Given the description of an element on the screen output the (x, y) to click on. 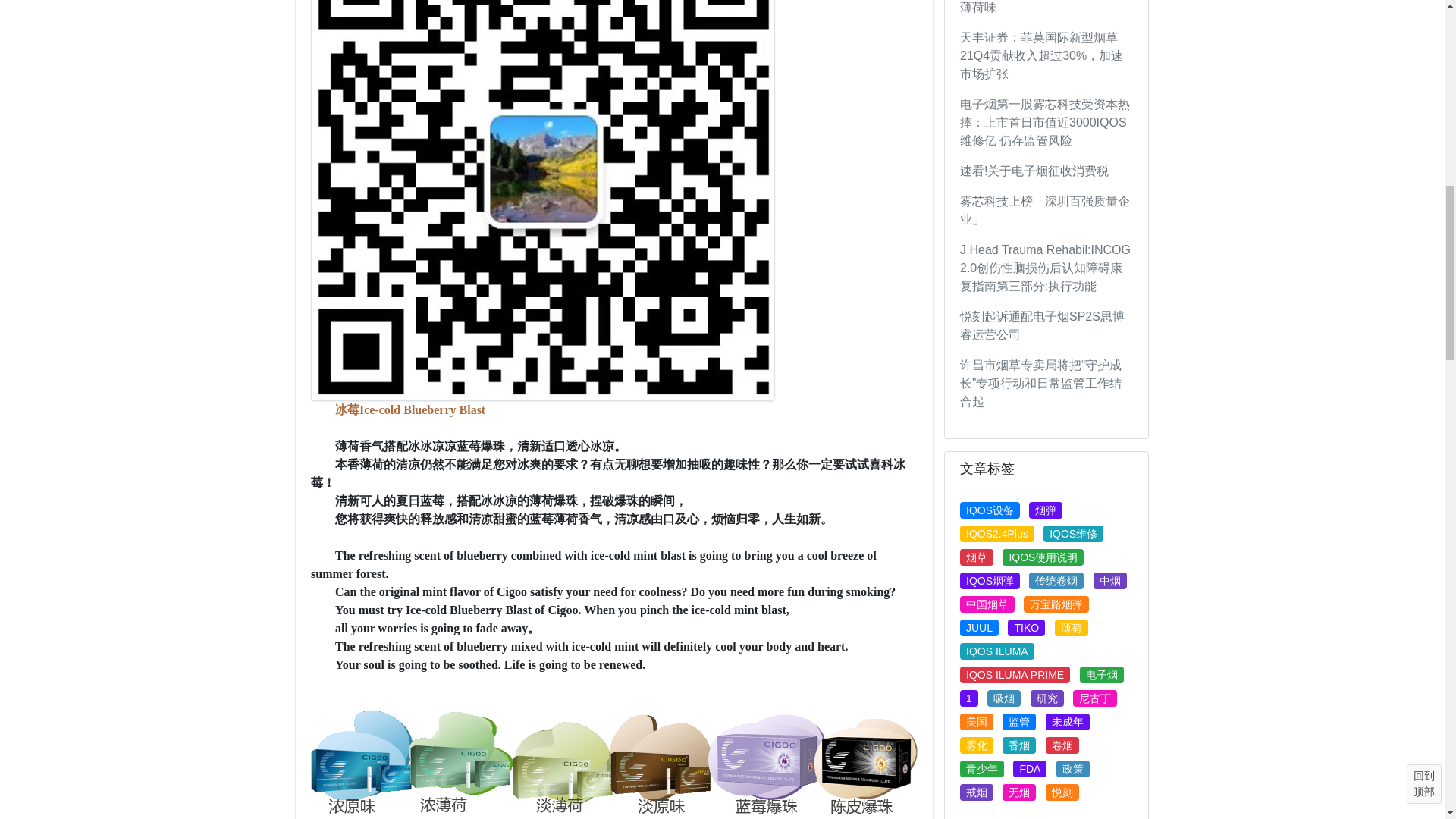
IQOS ILUMA PRIME (1014, 674)
IQOS2.4Plus (996, 533)
JUUL (978, 627)
IQOS ILUMA PRIME (1014, 674)
TIKO (1026, 627)
1 (968, 698)
IQOS ILUMA (996, 651)
IQOS2.4Plus (996, 533)
1 (968, 698)
JUUL (978, 627)
IQOS ILUMA (996, 651)
TIKO (1026, 627)
